Given the description of an element on the screen output the (x, y) to click on. 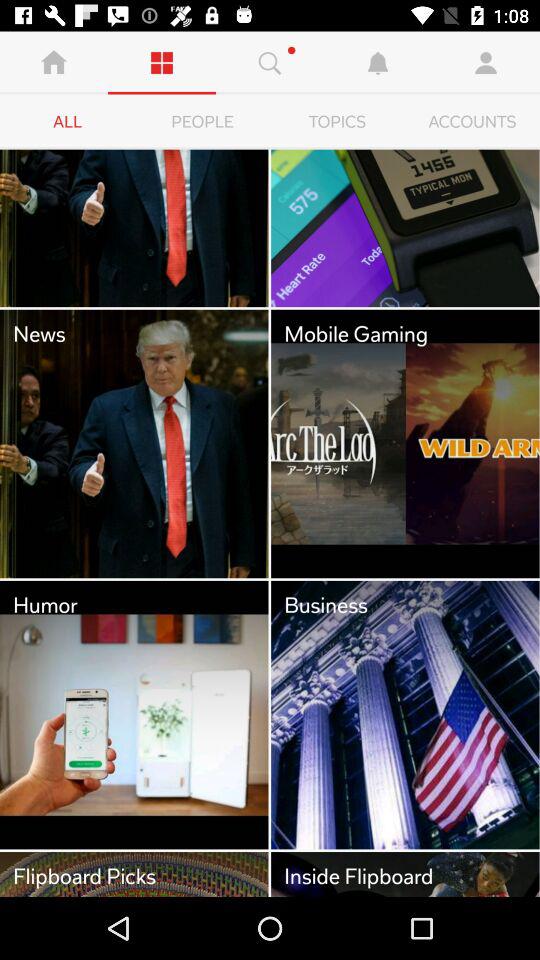
click topics (337, 121)
